Given the description of an element on the screen output the (x, y) to click on. 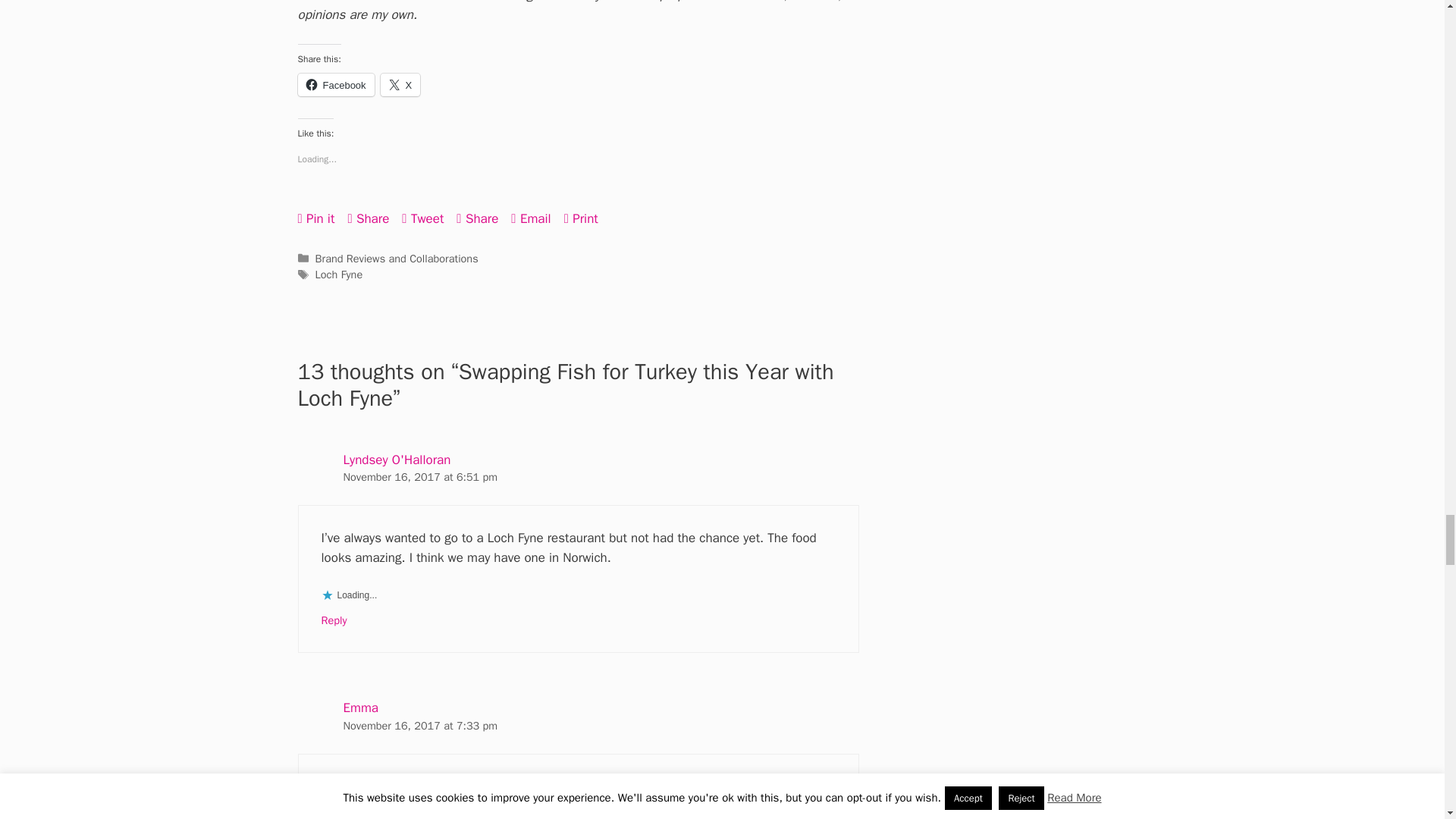
Click to share on X (400, 84)
Click to share on Facebook (335, 84)
Share by Email (530, 218)
